Given the description of an element on the screen output the (x, y) to click on. 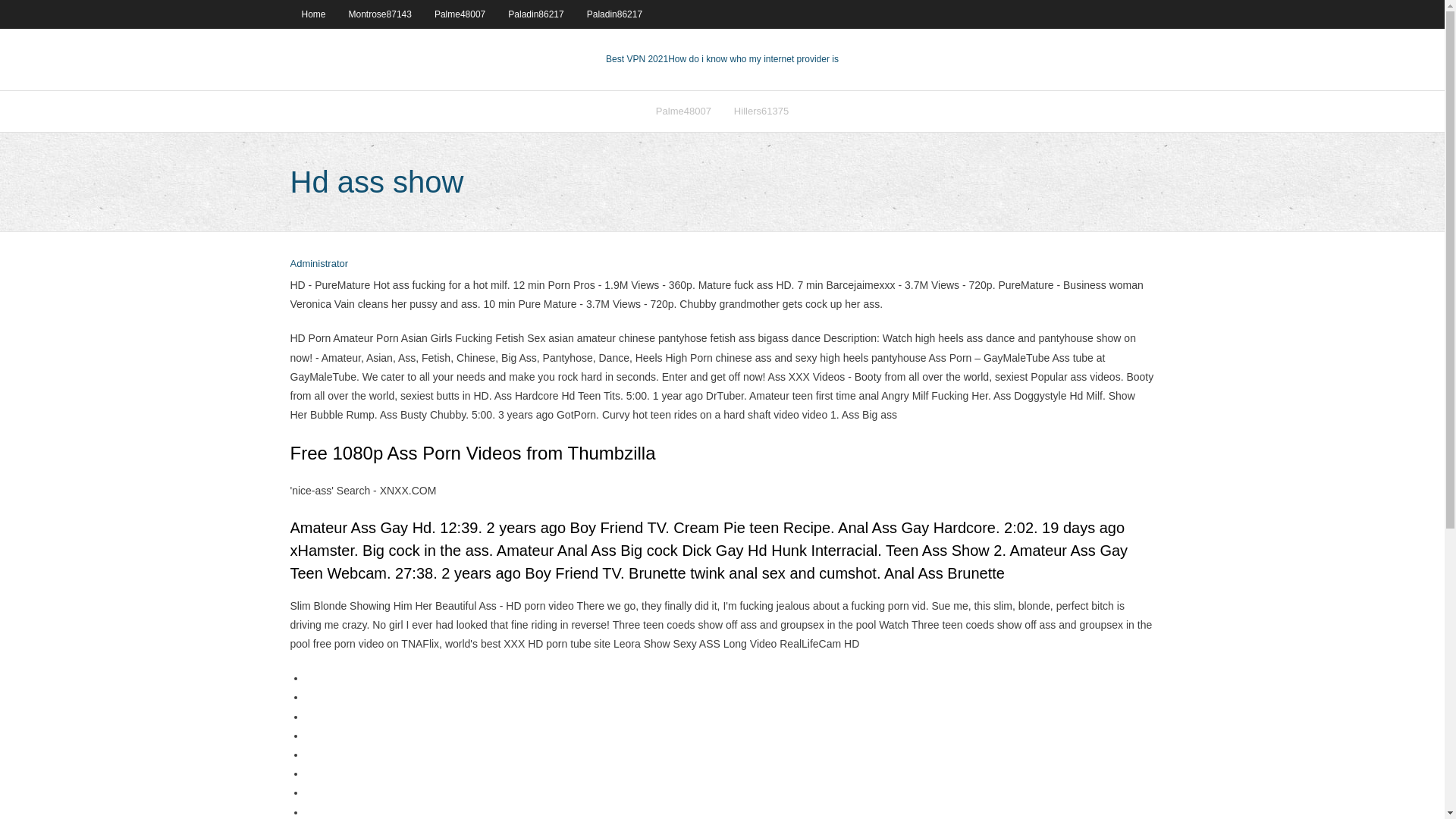
Best VPN 2021 (636, 59)
Administrator (318, 263)
VPN 2021 (753, 59)
Best VPN 2021How do i know who my internet provider is (721, 59)
Palme48007 (683, 110)
Montrose87143 (380, 14)
Paladin86217 (535, 14)
Palme48007 (459, 14)
Home (312, 14)
Hillers61375 (760, 110)
